Given the description of an element on the screen output the (x, y) to click on. 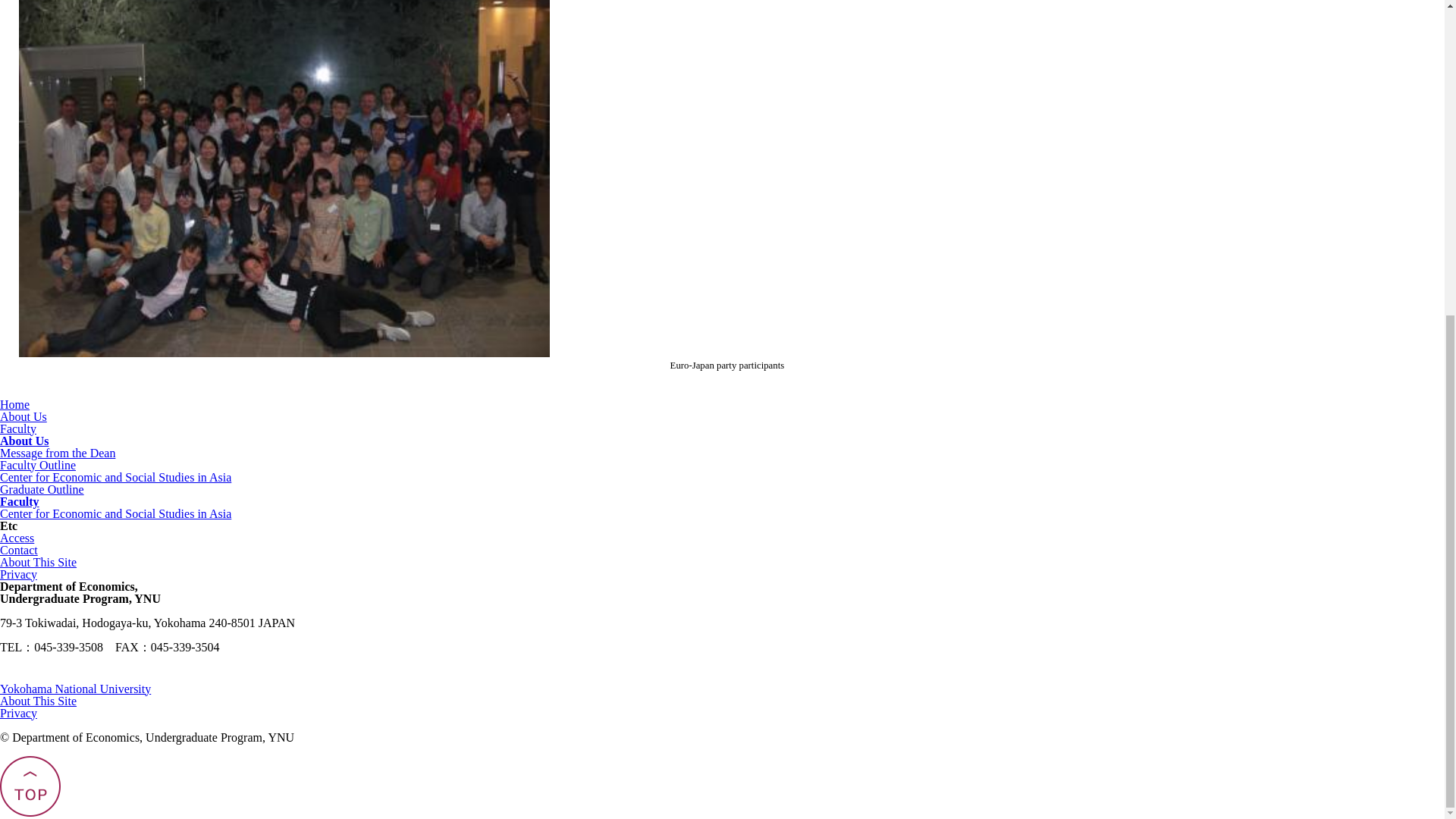
About Us (23, 416)
About This Site (38, 700)
Access (16, 537)
Graduate Outline (42, 489)
Center for Economic and Social Studies in Asia (115, 513)
Faculty (19, 501)
Yokohama National University (75, 688)
Home (14, 404)
Faculty Outline (37, 464)
About This Site (38, 562)
Faculty (18, 428)
Privacy (18, 574)
Privacy (18, 712)
Contact (18, 549)
Message from the Dean (57, 452)
